Given the description of an element on the screen output the (x, y) to click on. 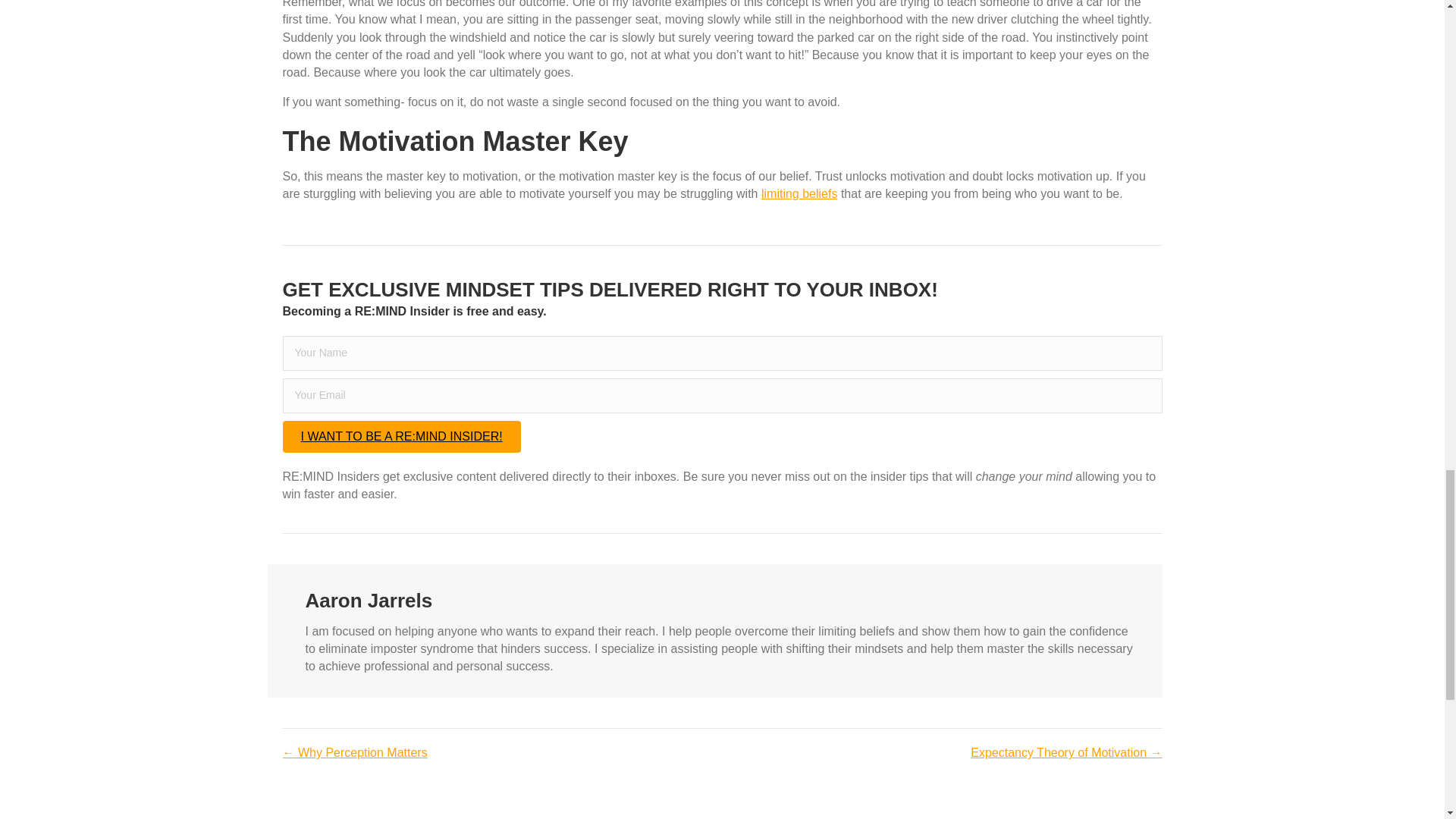
I WANT TO BE A RE:MIND INSIDER! (400, 436)
limiting beliefs (799, 193)
